Given the description of an element on the screen output the (x, y) to click on. 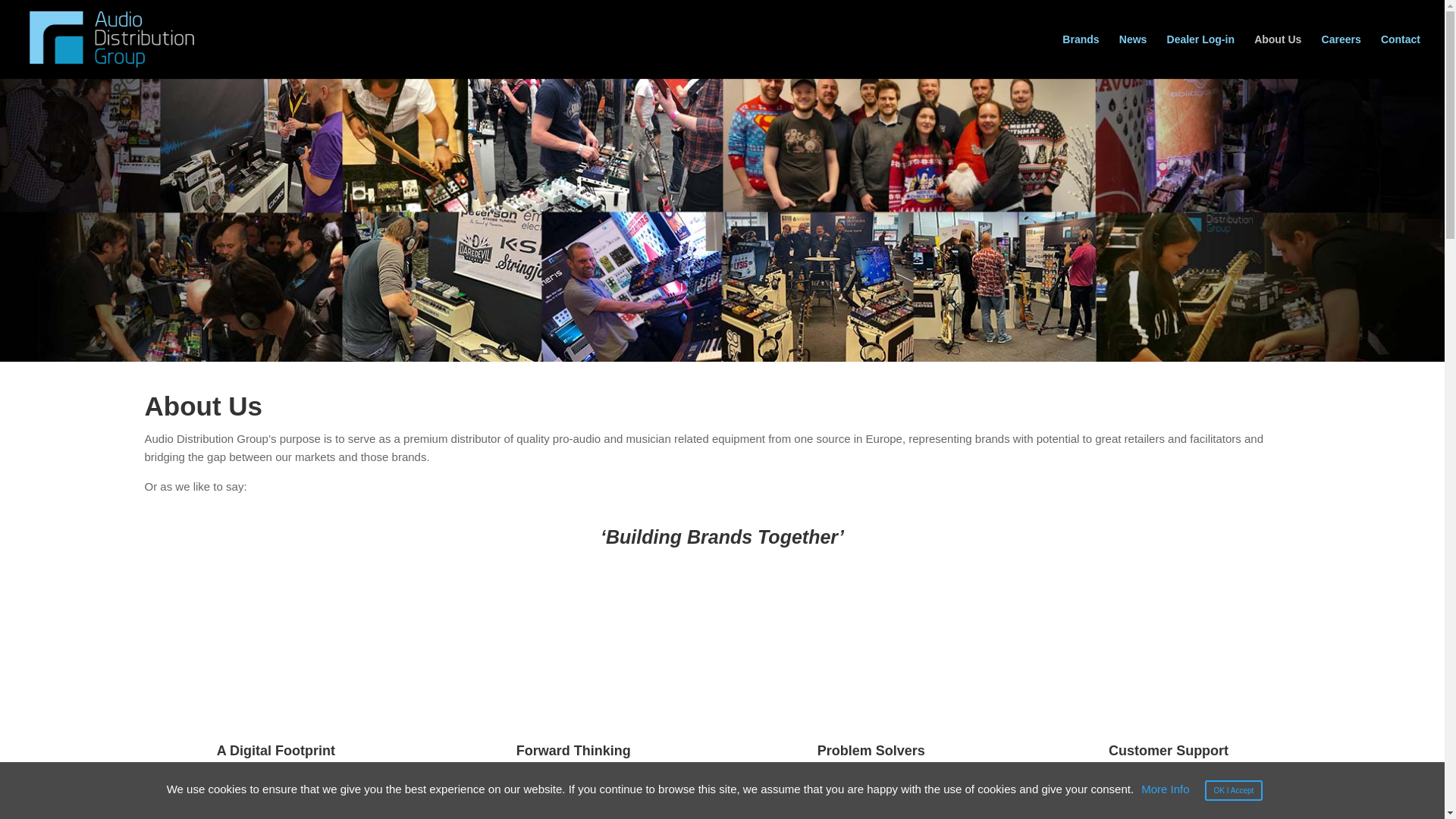
OK I Accept (1234, 790)
Dealer Log-in (1200, 56)
About Us (1277, 56)
More Info (1165, 788)
